Given the description of an element on the screen output the (x, y) to click on. 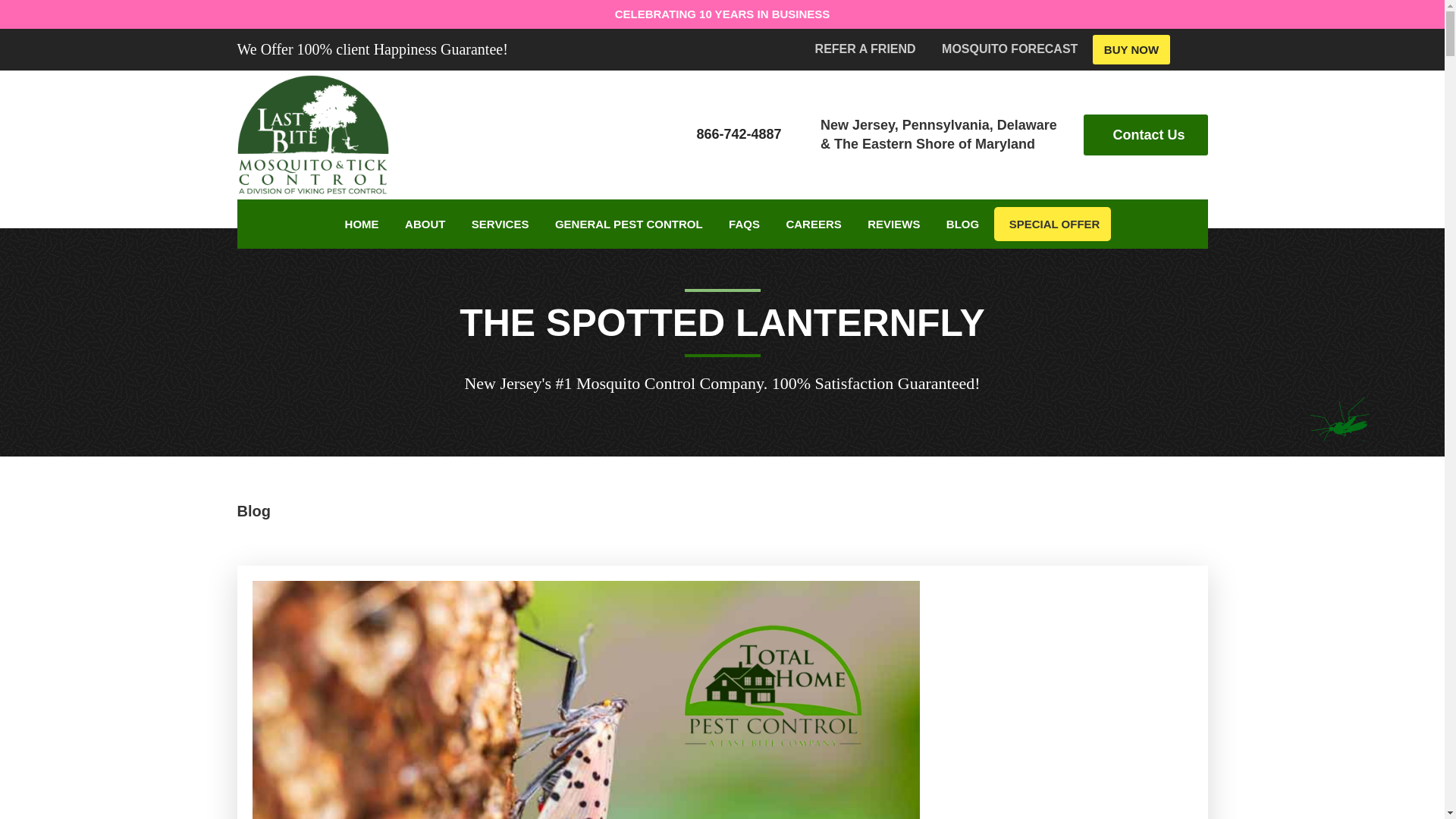
ABOUT (425, 223)
BUY NOW (1131, 49)
HOME (361, 223)
REFER A FRIEND (865, 48)
GENERAL PEST CONTROL (628, 223)
SPECIAL OFFER (1053, 223)
Contact Us (1145, 134)
REVIEWS (893, 223)
CAREERS (812, 223)
MOSQUITO FORECAST (1009, 48)
